Given the description of an element on the screen output the (x, y) to click on. 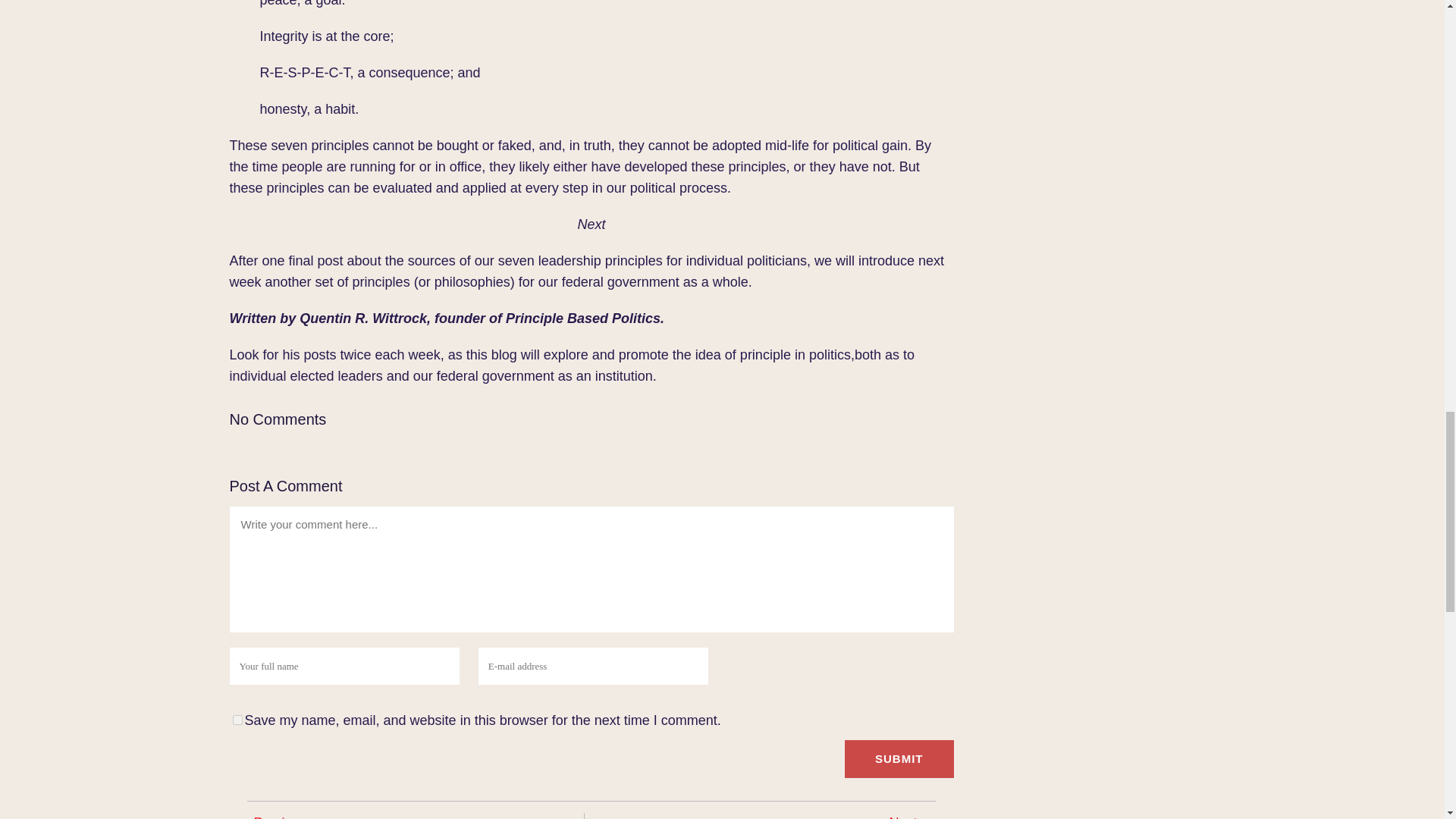
yes (236, 719)
Submit (898, 759)
